Given the description of an element on the screen output the (x, y) to click on. 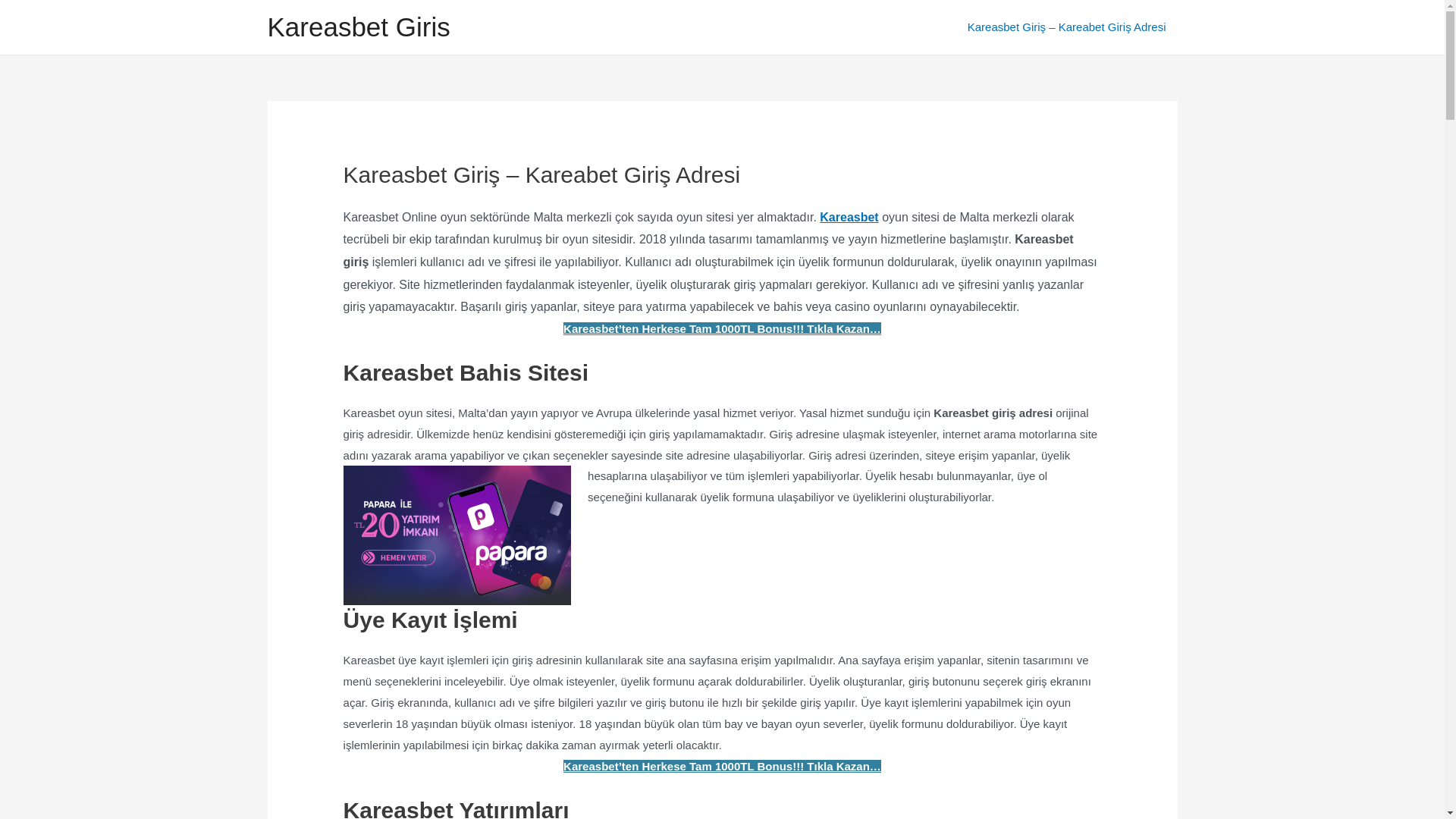
Kareasbet Element type: text (848, 216)
Kareasbet Giris Element type: text (357, 26)
